Given the description of an element on the screen output the (x, y) to click on. 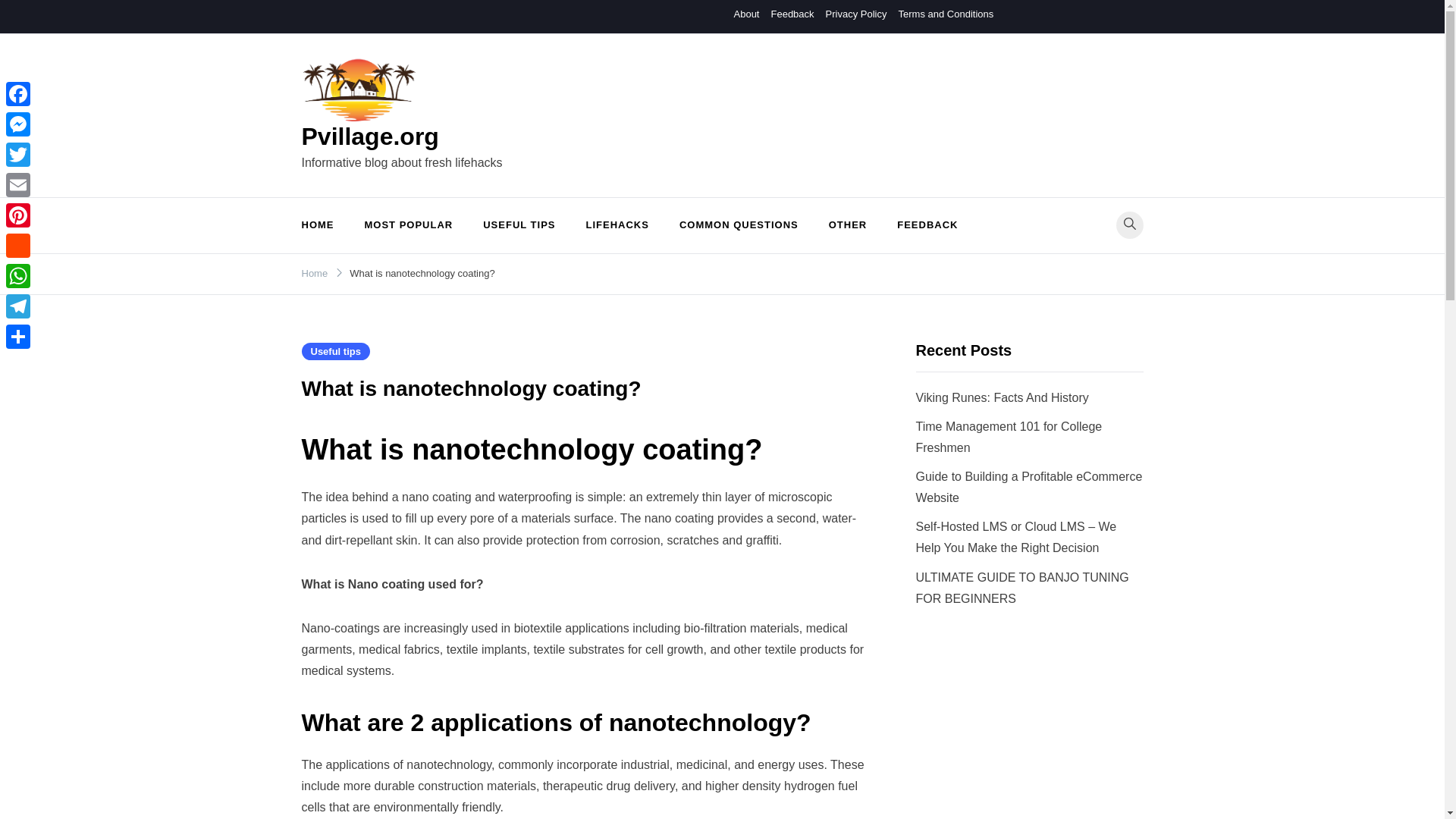
Home (315, 273)
Messenger (17, 123)
MOST POPULAR (408, 225)
Terms and Conditions (945, 13)
Telegram (17, 306)
USEFUL TIPS (518, 225)
Guide to Building a Profitable eCommerce Website (1028, 487)
About (746, 13)
Viking Runes: Facts And History (1002, 397)
Reddit (17, 245)
Feedback (791, 13)
Twitter (17, 154)
WhatsApp (17, 276)
COMMON QUESTIONS (738, 225)
Time Management 101 for College Freshmen (1008, 437)
